Given the description of an element on the screen output the (x, y) to click on. 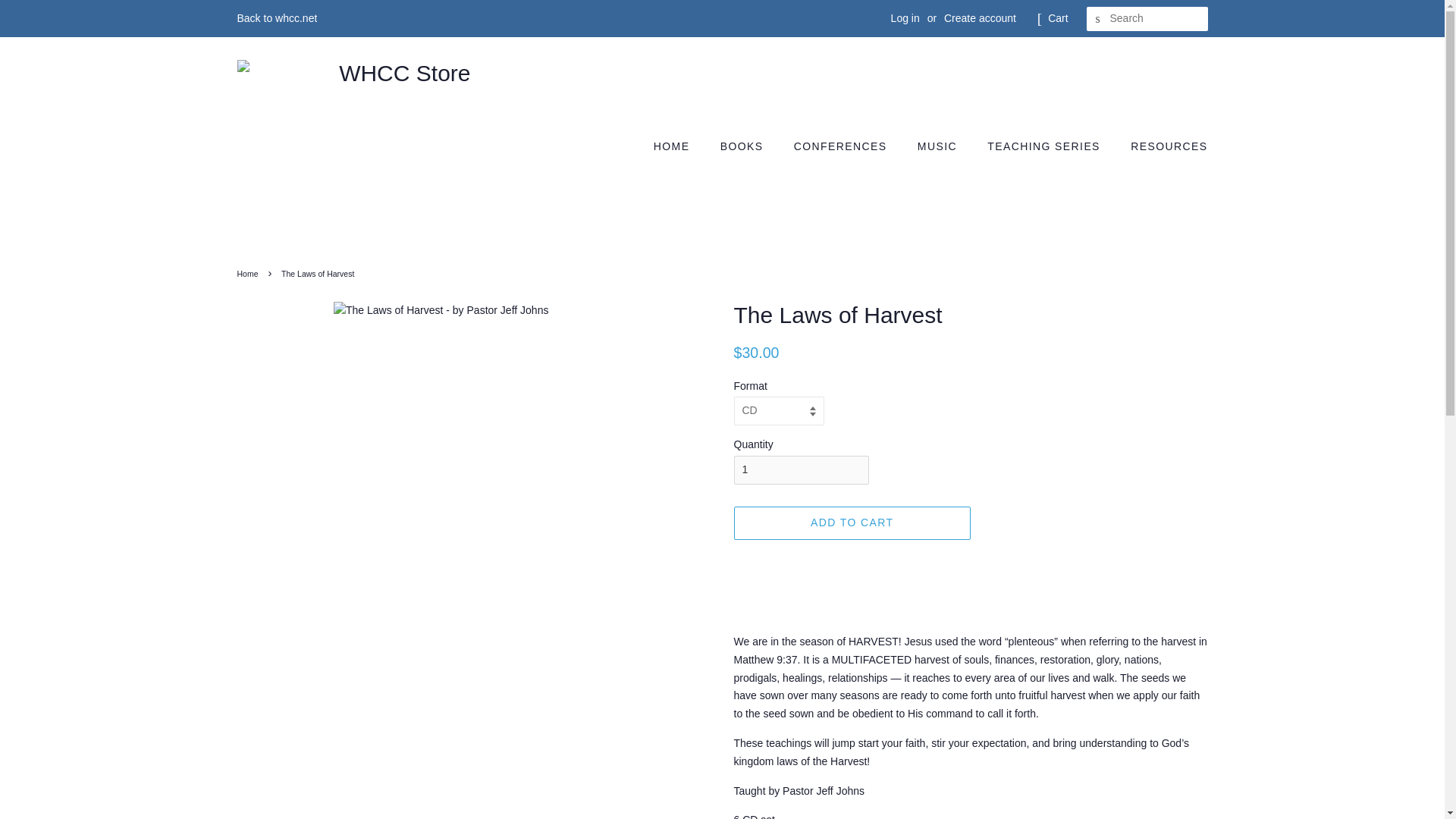
HOME (678, 146)
MUSIC (938, 146)
Back to the frontpage (248, 273)
ADD TO CART (852, 522)
CONFERENCES (842, 146)
1 (801, 469)
TEACHING SERIES (1045, 146)
Back to whcc.net (276, 18)
Create account (979, 18)
Home (248, 273)
Log in (905, 18)
RESOURCES (1163, 146)
SEARCH (1097, 18)
Cart (1057, 18)
BOOKS (743, 146)
